Given the description of an element on the screen output the (x, y) to click on. 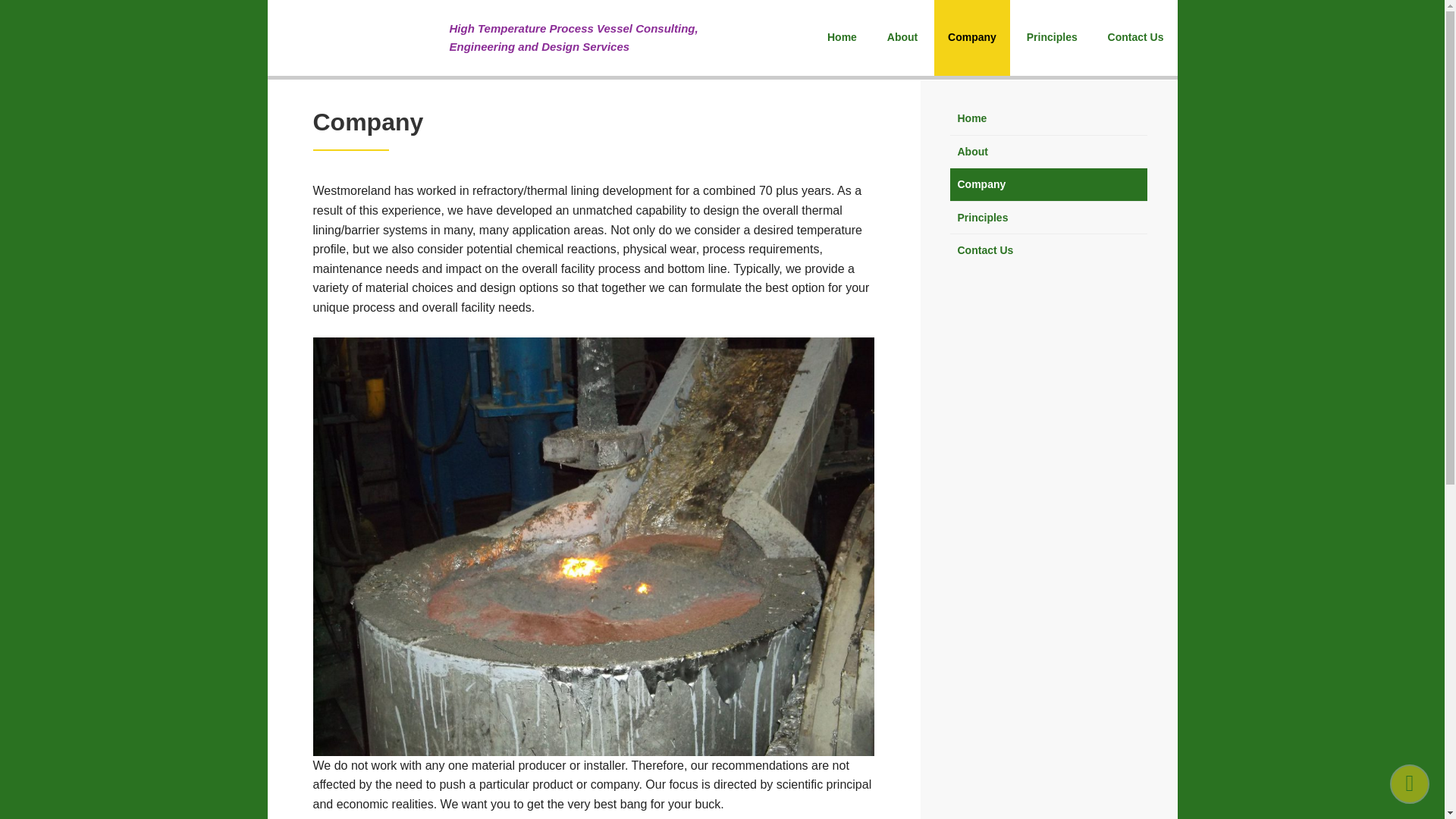
Contact Us (1048, 250)
Scroll Page Up (1409, 783)
Contact Us (1135, 38)
Scroll Page Up (1409, 783)
Principles (1048, 217)
Home (1048, 118)
Company (972, 38)
Company (1048, 184)
Westmoreland Advanced Materials (357, 38)
